Given the description of an element on the screen output the (x, y) to click on. 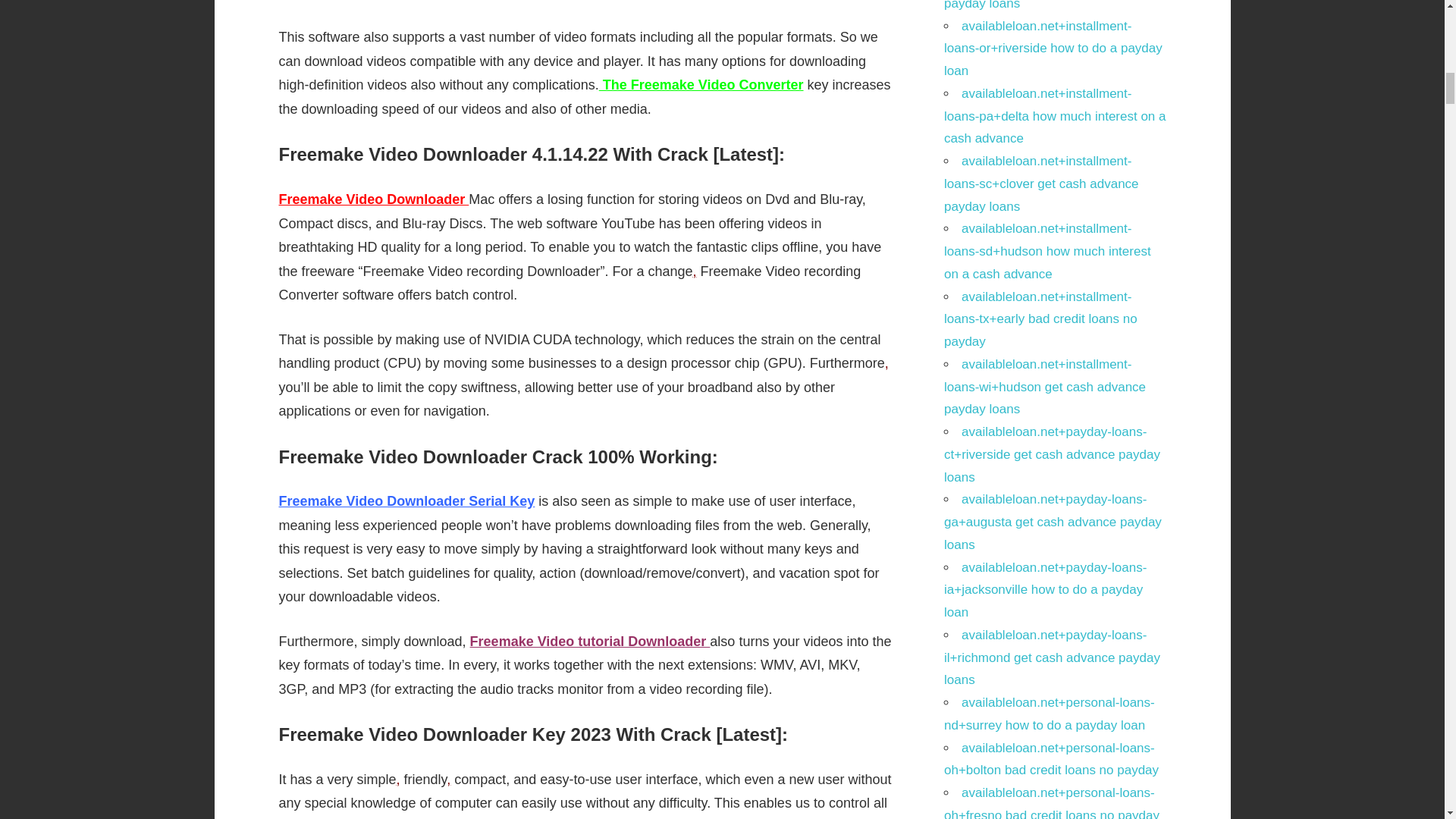
The Freemake Video Converter (700, 84)
Freemake Video Downloader (373, 199)
